Given the description of an element on the screen output the (x, y) to click on. 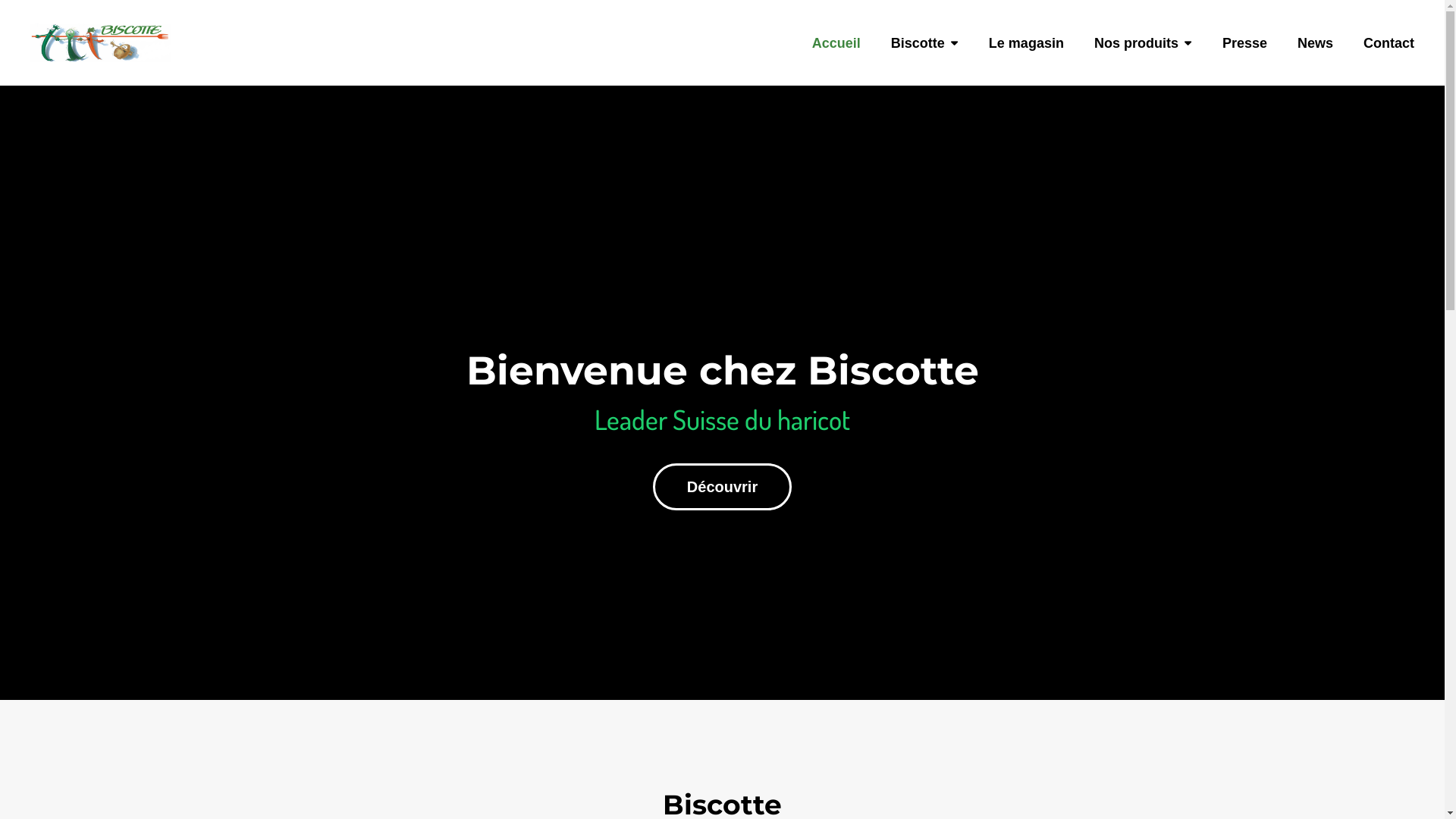
Biscotte Element type: text (924, 60)
Presse Element type: text (1244, 60)
News Element type: text (1315, 60)
Le magasin Element type: text (1025, 60)
Accueil Element type: text (836, 60)
Nos produits Element type: text (1143, 60)
Contact Element type: text (1388, 60)
